Given the description of an element on the screen output the (x, y) to click on. 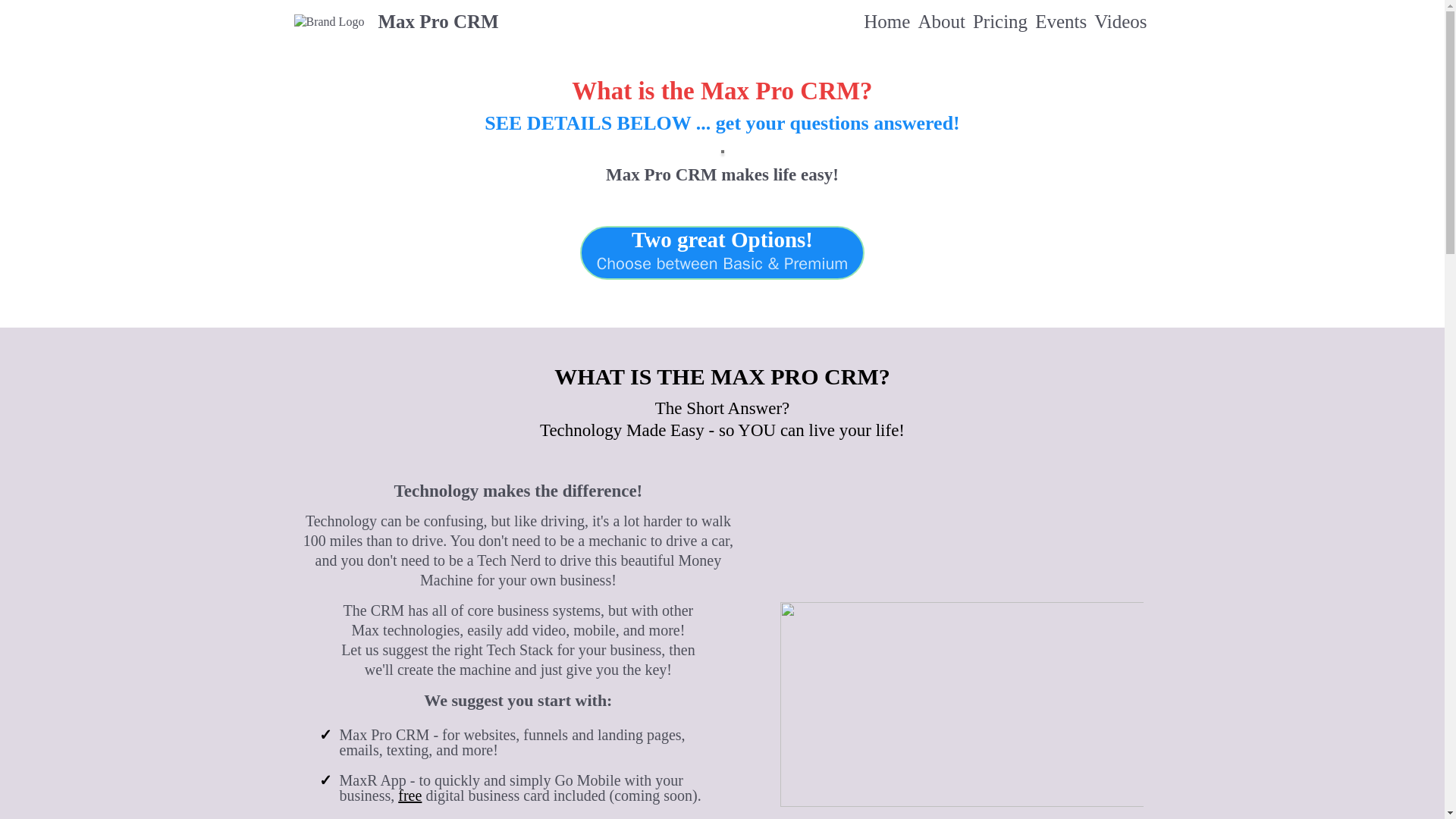
Pricing (999, 22)
Home (887, 22)
Videos (1120, 22)
Events (1060, 22)
About (941, 22)
